Given the description of an element on the screen output the (x, y) to click on. 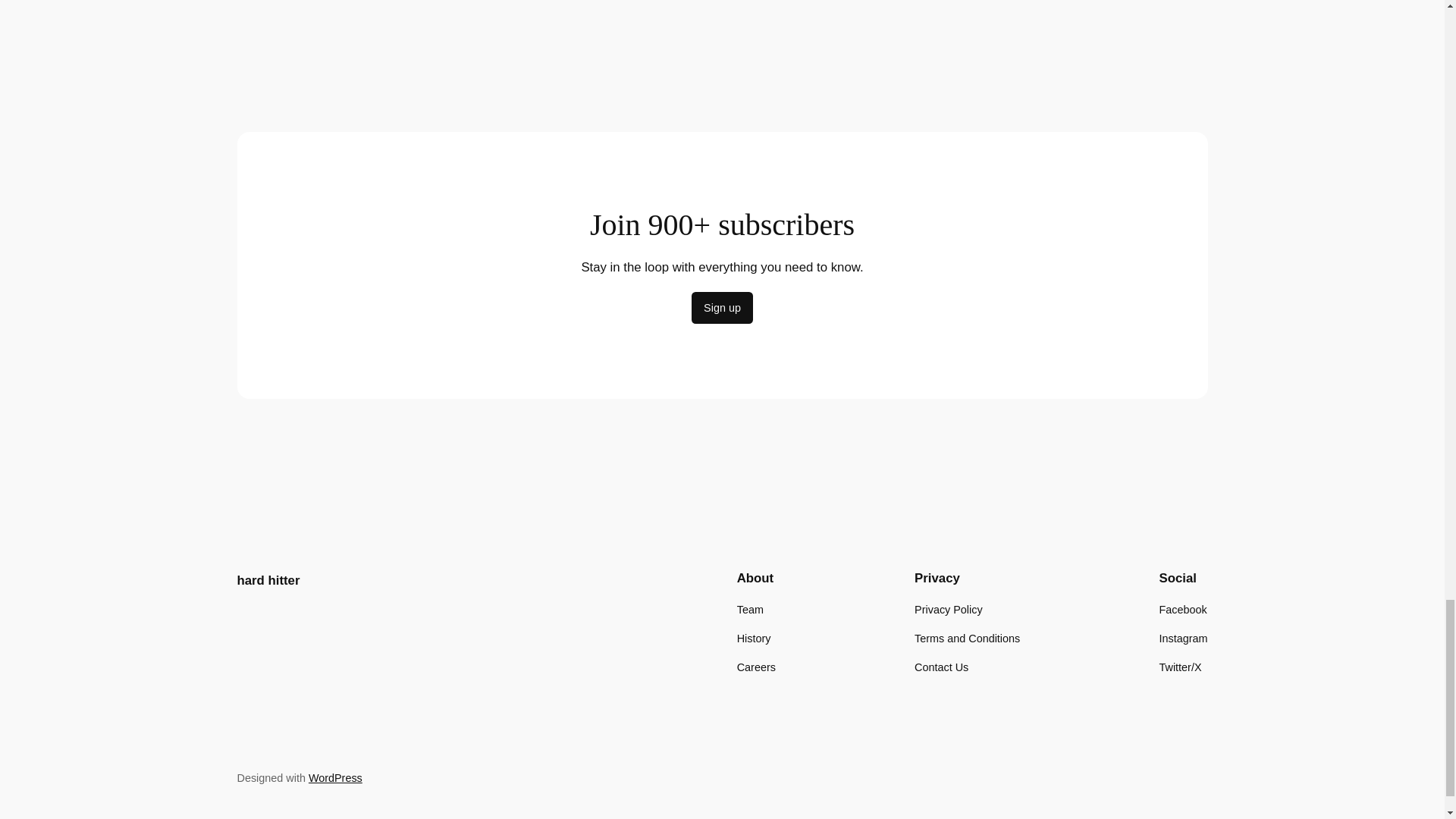
Team (749, 609)
History (753, 638)
hard hitter (267, 580)
Facebook (1182, 609)
WordPress (335, 777)
Contact Us (941, 667)
Careers (756, 667)
Terms and Conditions (967, 638)
Instagram (1182, 638)
Sign up (721, 307)
